Given the description of an element on the screen output the (x, y) to click on. 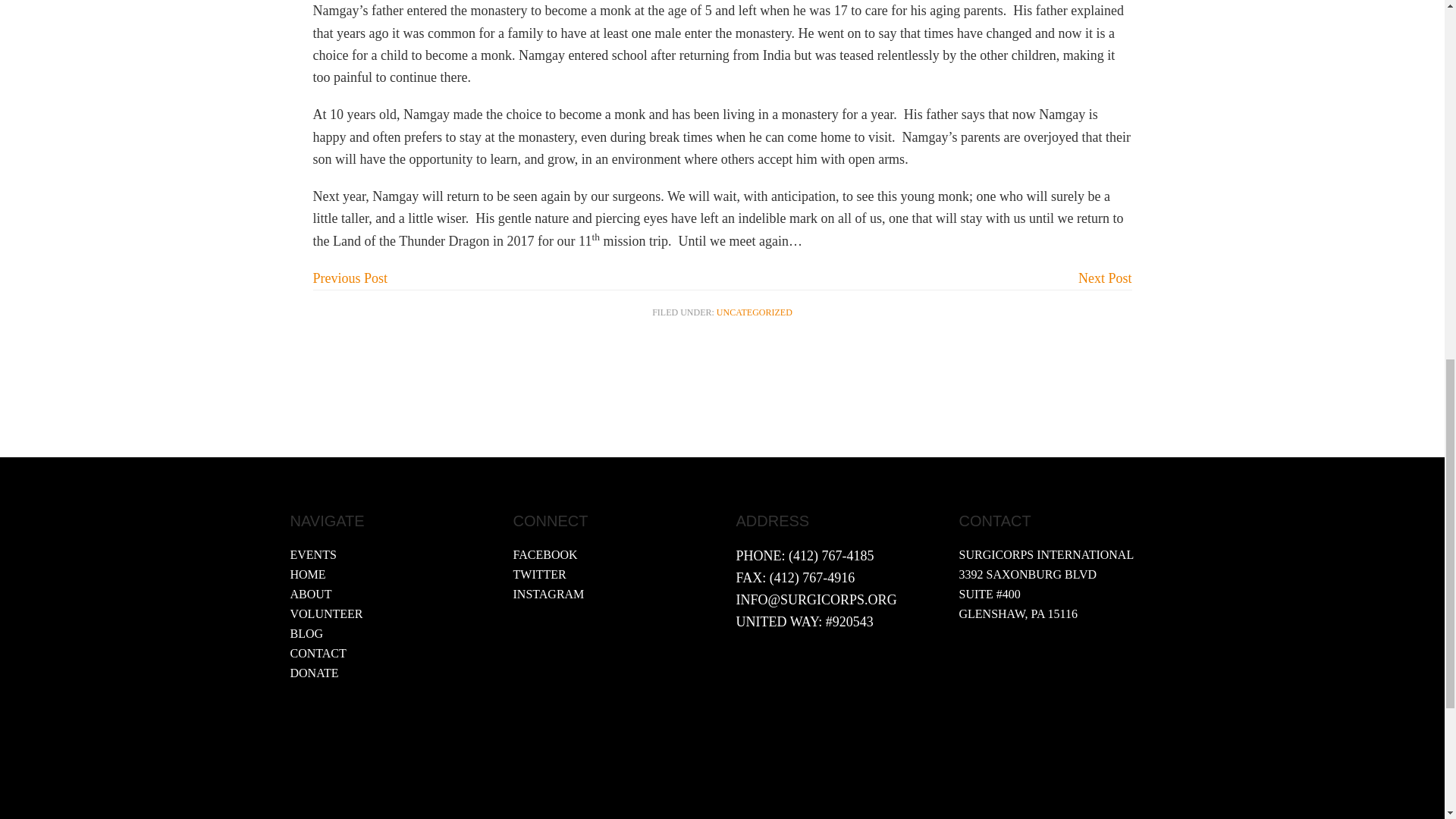
FACEBOOK (544, 554)
UNCATEGORIZED (754, 312)
BLOG (306, 633)
Next Post (1105, 278)
HOME (306, 574)
CONTACT (317, 653)
ABOUT (310, 594)
Previous Post (350, 278)
EVENTS (312, 554)
VOLUNTEER (325, 613)
